Given the description of an element on the screen output the (x, y) to click on. 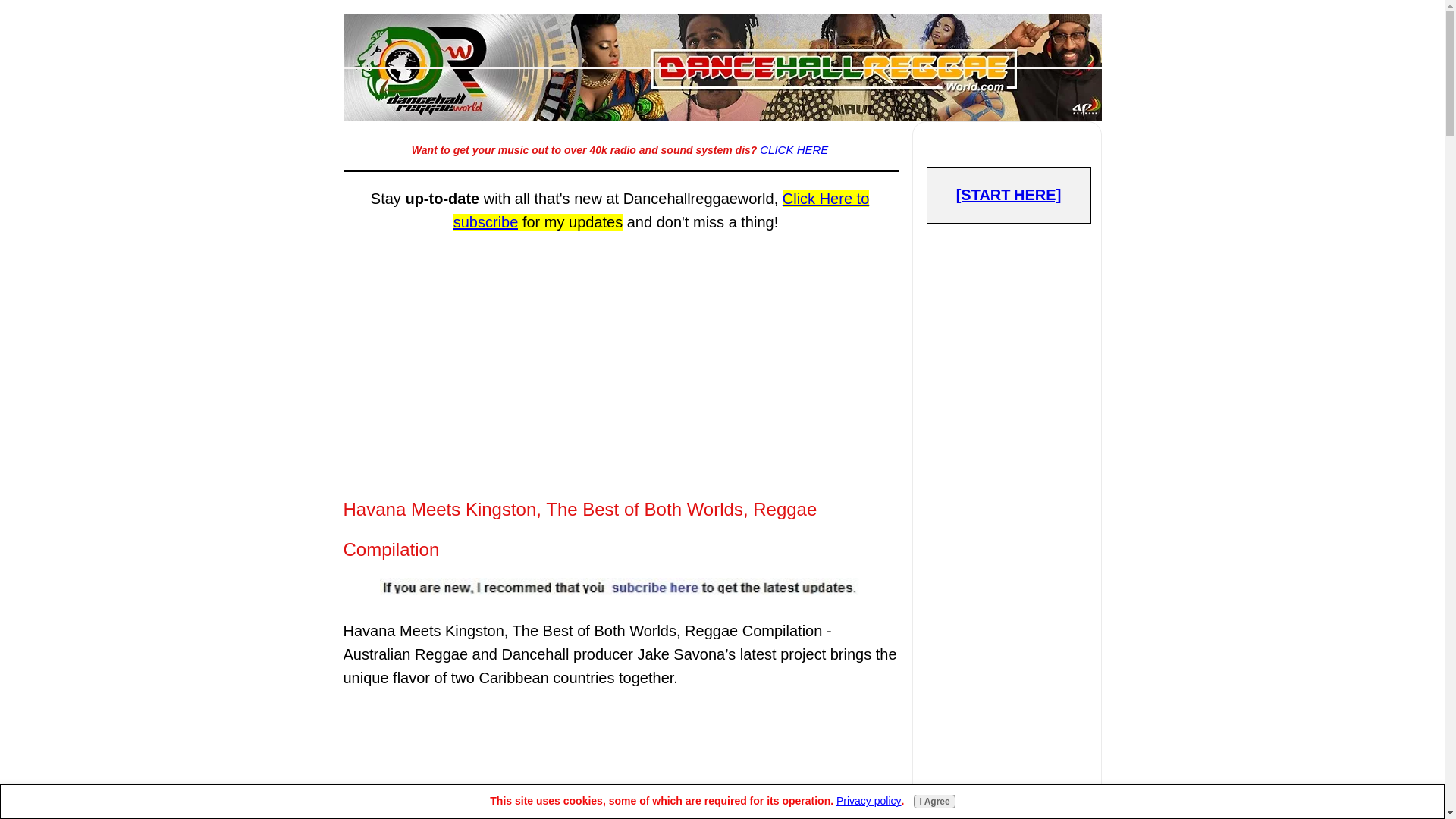
CLICK HERE (794, 150)
Advertisement (619, 347)
Advertisement (619, 758)
Advertisement (1008, 764)
Click Here to subscribe (660, 210)
Go to Dancehall Reggae Newsletter.  (620, 591)
